Given the description of an element on the screen output the (x, y) to click on. 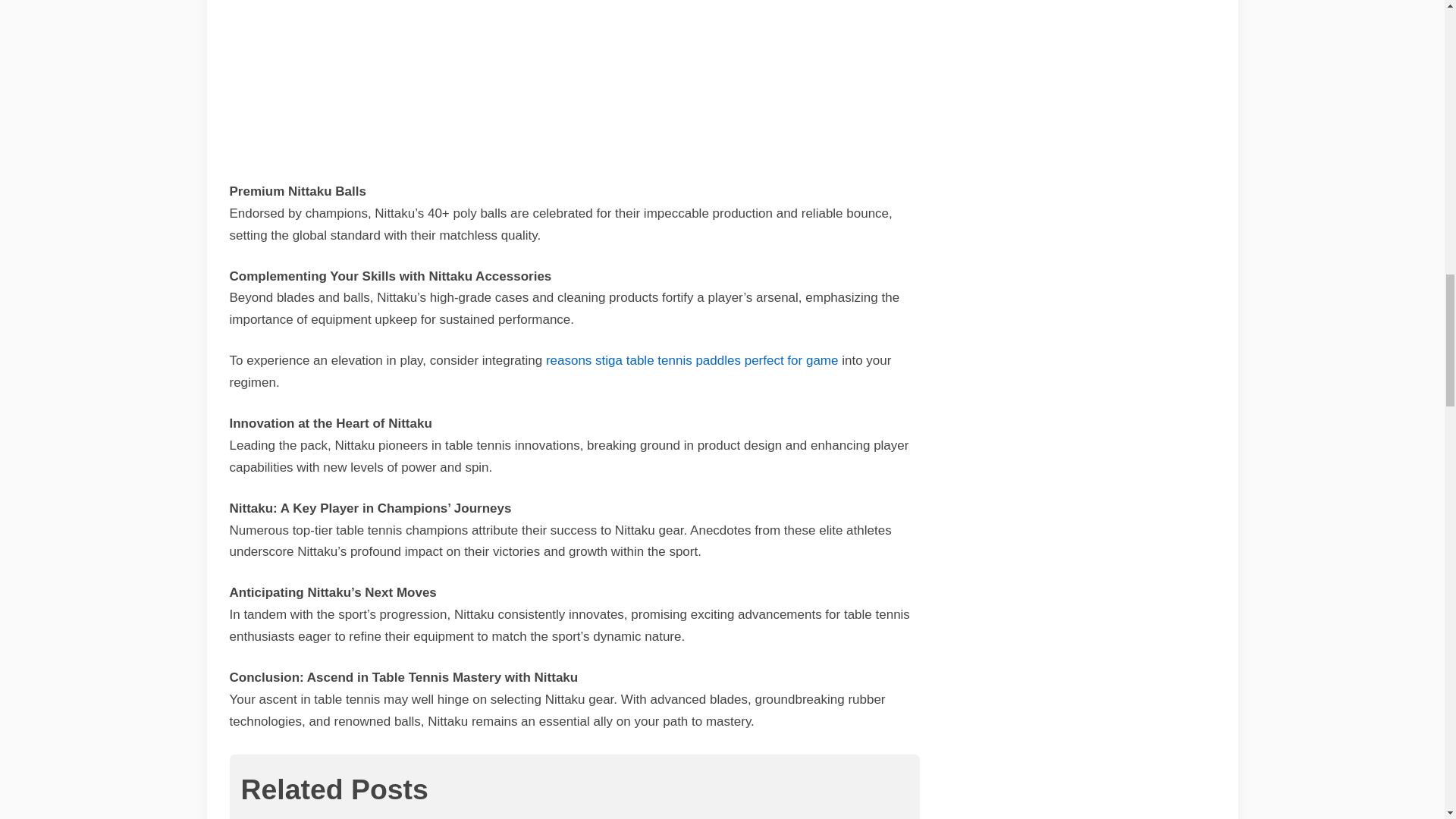
reasons stiga table tennis paddles perfect for game (692, 359)
